Given the description of an element on the screen output the (x, y) to click on. 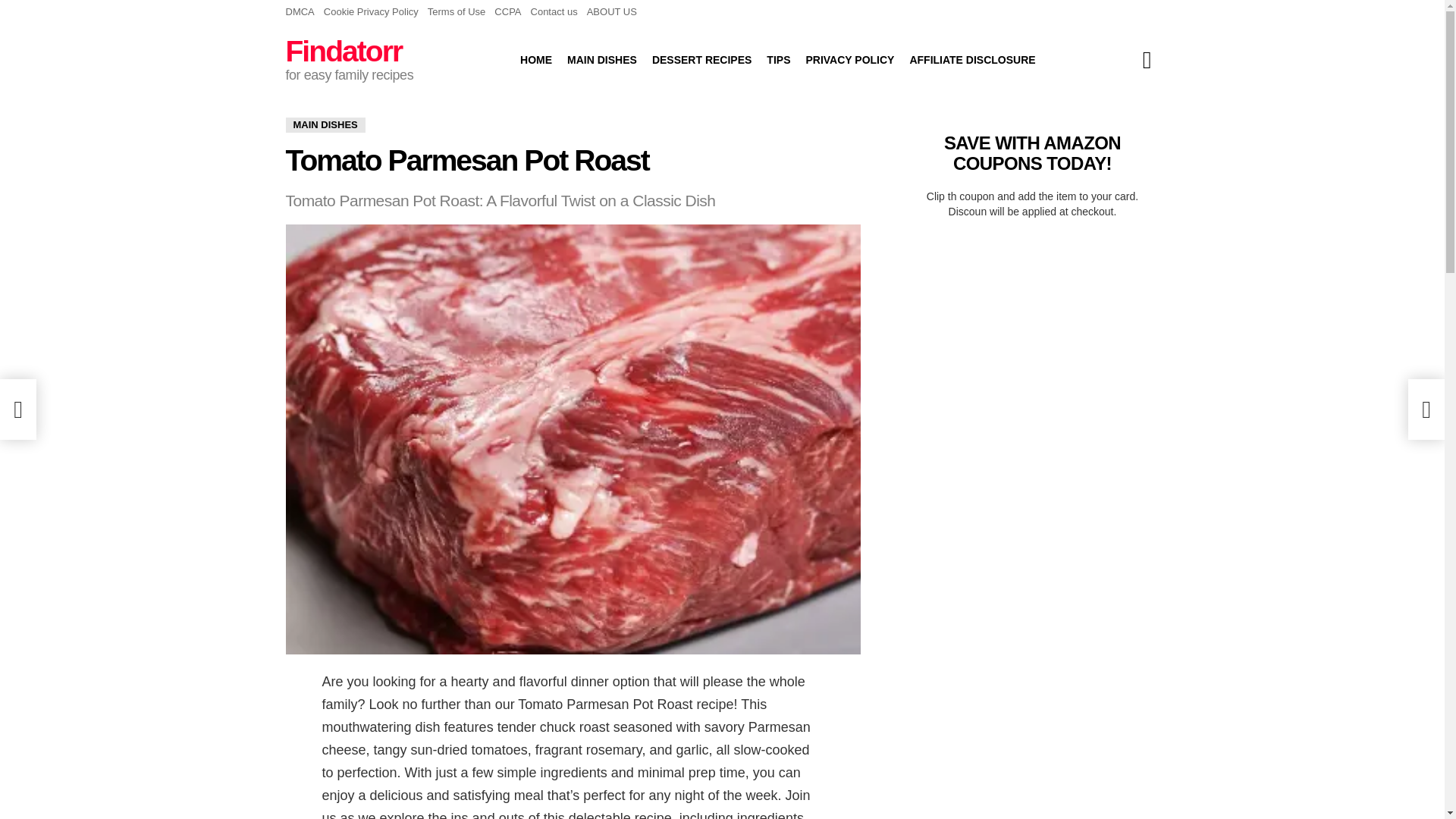
SAVE WITH AMAZON COUPONS TODAY! (1032, 152)
AFFILIATE DISCLOSURE (971, 59)
HOME (535, 59)
Contact us (554, 12)
Cookie Privacy Policy (371, 12)
Findatorr (343, 51)
Terms of Use (457, 12)
TIPS (777, 59)
PRIVACY POLICY (849, 59)
DESSERT RECIPES (701, 59)
CCPA (508, 12)
MAIN DISHES (325, 124)
ABOUT US (611, 12)
DMCA (299, 12)
MAIN DISHES (602, 59)
